Given the description of an element on the screen output the (x, y) to click on. 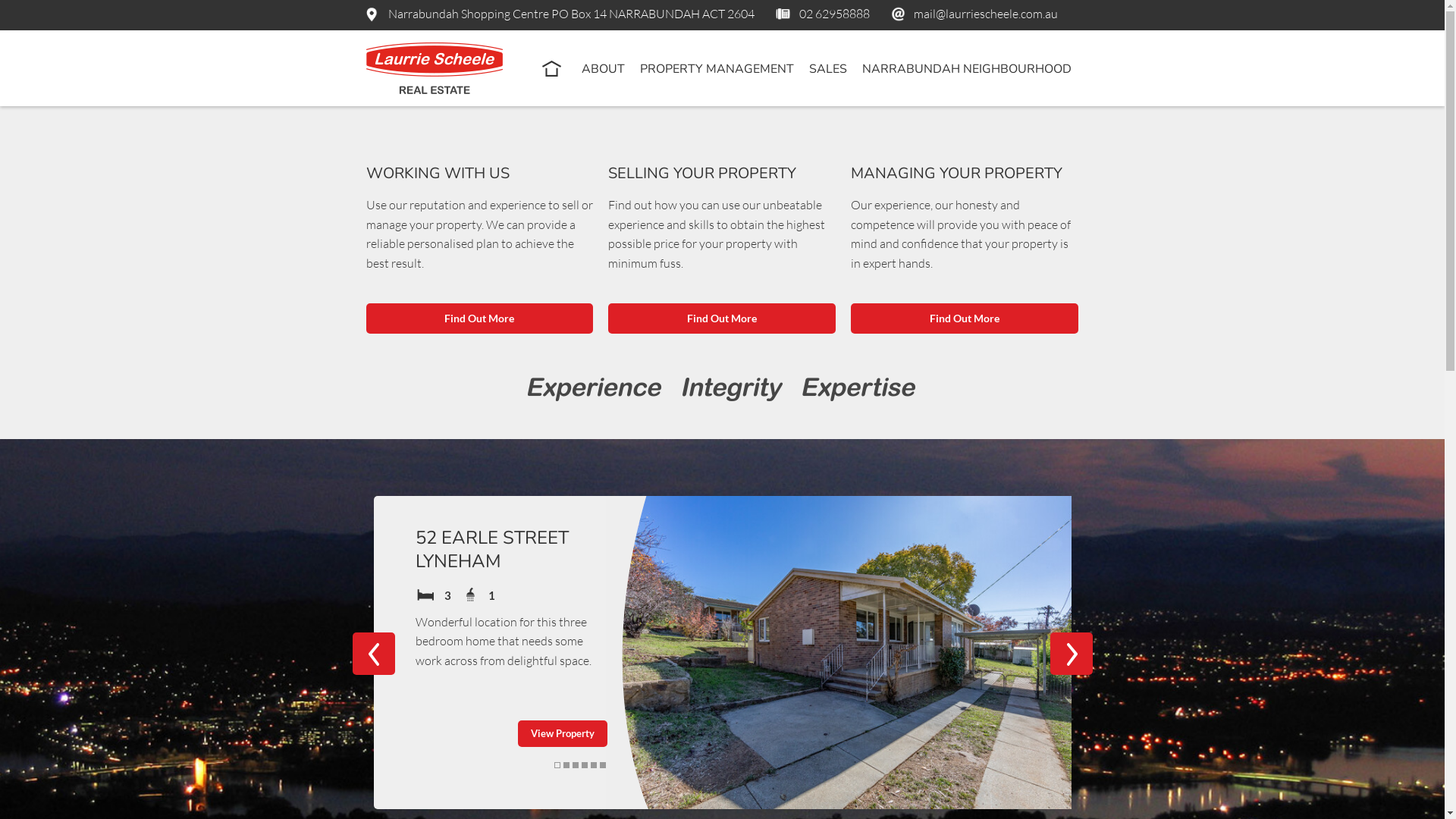
Find Out More Element type: text (479, 318)
Find Out More Element type: text (964, 318)
Narrabundah Shopping Centre PO Box 14 NARRABUNDAH ACT 2604 Element type: text (567, 13)
Previous Slide Element type: text (372, 653)
SALES Element type: text (826, 69)
NARRABUNDAH NEIGHBOURHOOD Element type: text (965, 69)
02 62958888 Element type: text (826, 13)
View Property Element type: text (561, 733)
mail@laurriescheele.com.au Element type: text (978, 13)
Find Out More Element type: text (721, 318)
PROPERTY MANAGEMENT Element type: text (716, 69)
Next Slide Element type: text (1070, 653)
Home Element type: text (550, 68)
